Given the description of an element on the screen output the (x, y) to click on. 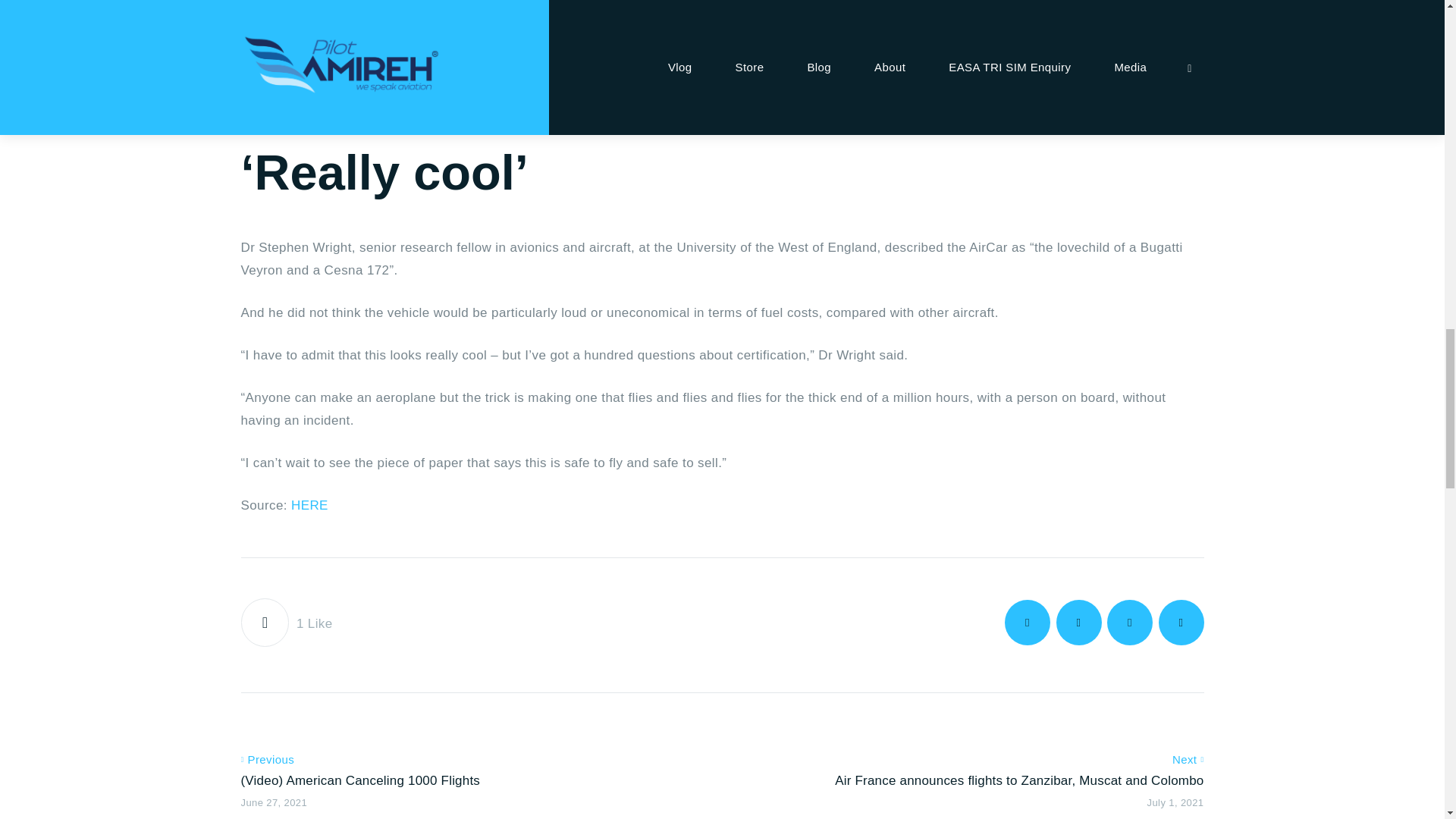
Like (287, 622)
Copy URL to clipboard (1181, 622)
